Given the description of an element on the screen output the (x, y) to click on. 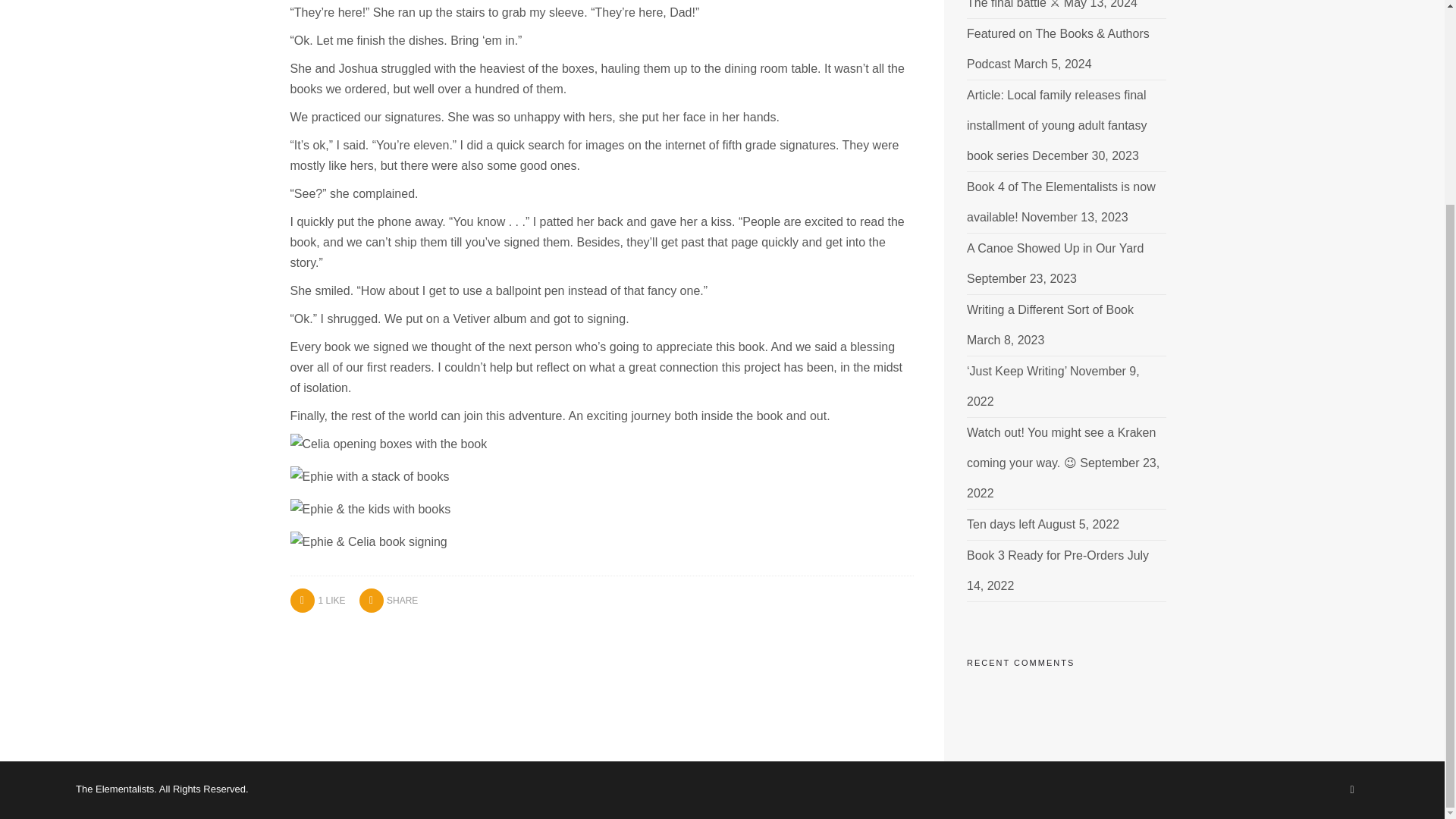
Book 3 Ready for Pre-Orders (1045, 554)
Book 4 of The Elementalists is now available! (1061, 201)
SHARE (388, 600)
Ten days left (1000, 523)
Writing a Different Sort of Book (1050, 309)
A Canoe Showed Up in Our Yard (1054, 247)
1 LIKE (317, 599)
